Given the description of an element on the screen output the (x, y) to click on. 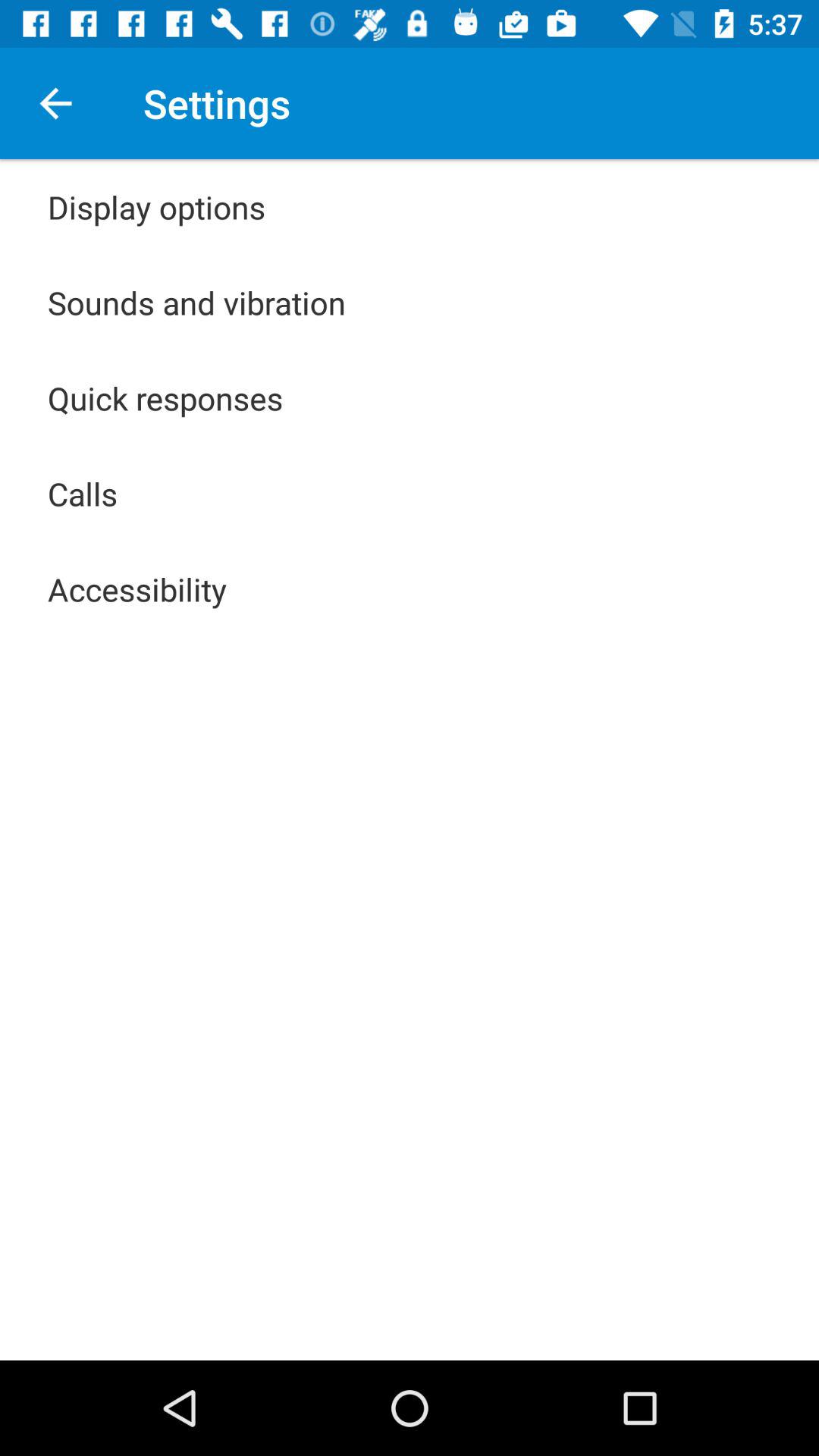
open app above quick responses (196, 302)
